Given the description of an element on the screen output the (x, y) to click on. 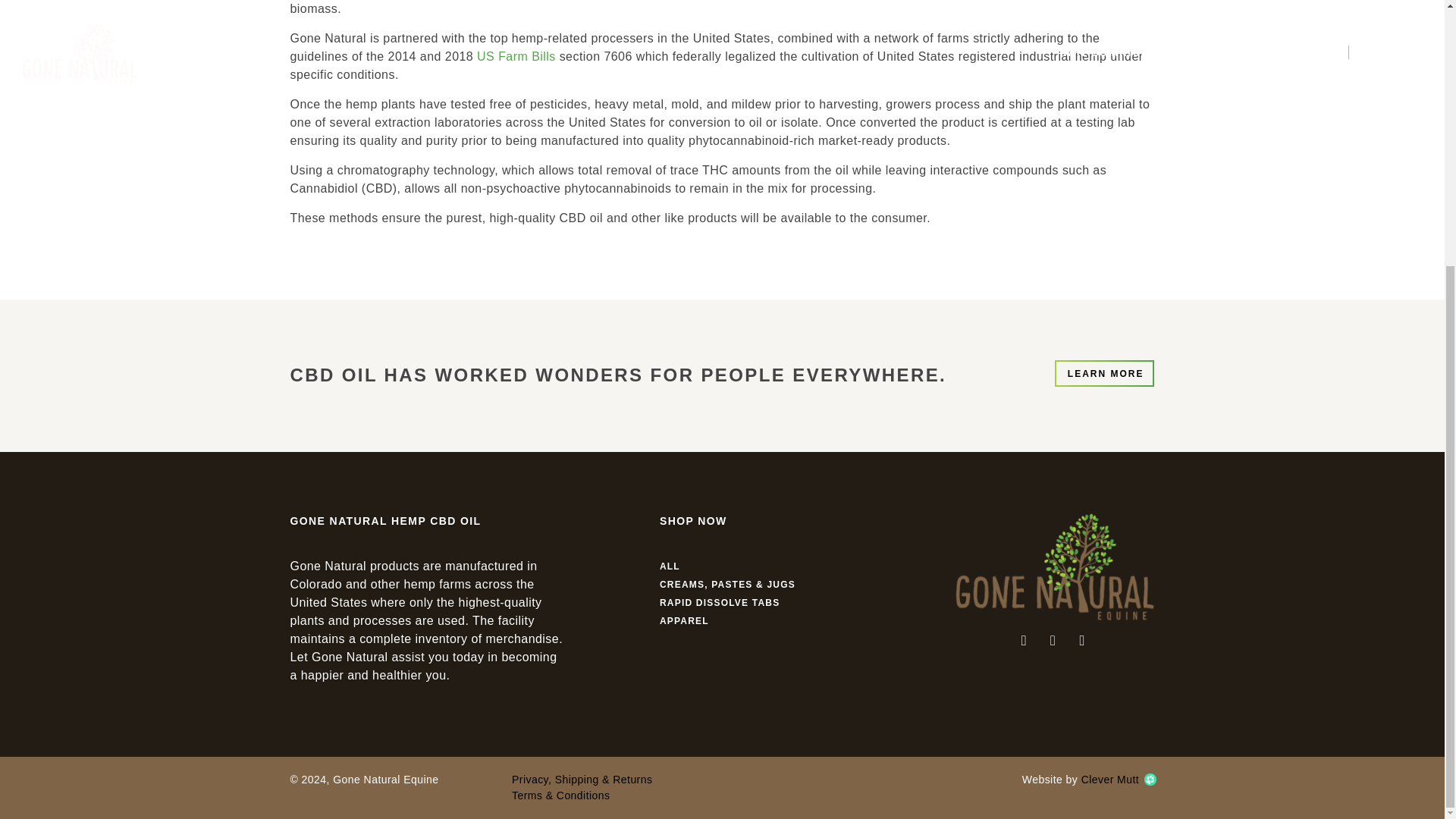
ALL (669, 566)
follow us on Instagram (1052, 639)
Website by Clever Mutt (1117, 779)
RAPID DISSOLVE TABS (718, 602)
find us on Facebook (1081, 639)
LEARN MORE (1104, 373)
Clever Mutt (1117, 779)
US Farm Bills (516, 56)
Gone Natural Equine (1054, 564)
follow us on Twitter (1023, 639)
CBD oil has worked wonders for people everywhere.  (1104, 373)
Website by Clever Mutt (1149, 779)
APPAREL (684, 620)
